Given the description of an element on the screen output the (x, y) to click on. 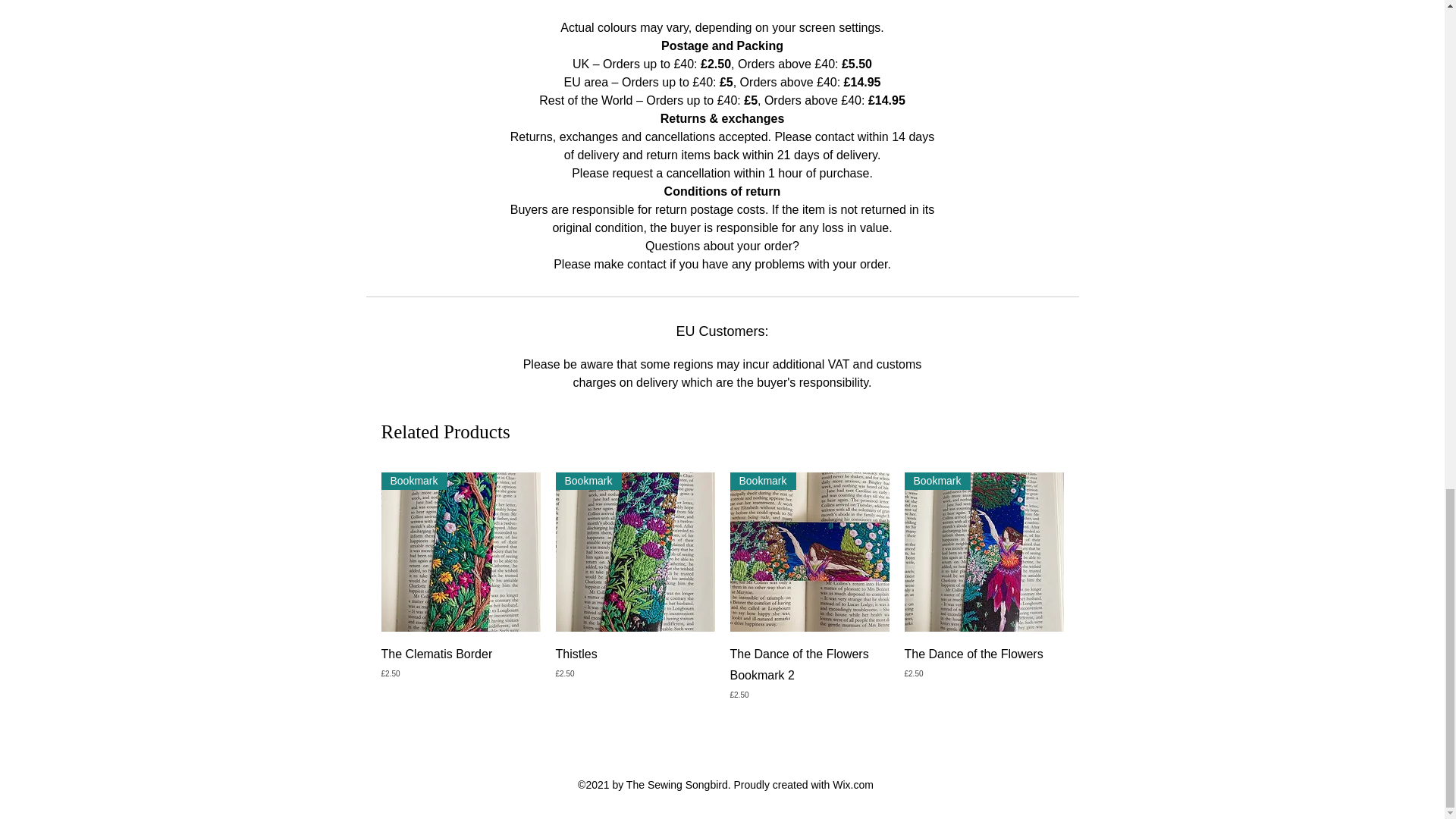
Bookmark (808, 551)
Bookmark (634, 551)
Bookmark (983, 551)
Bookmark (460, 551)
